Given the description of an element on the screen output the (x, y) to click on. 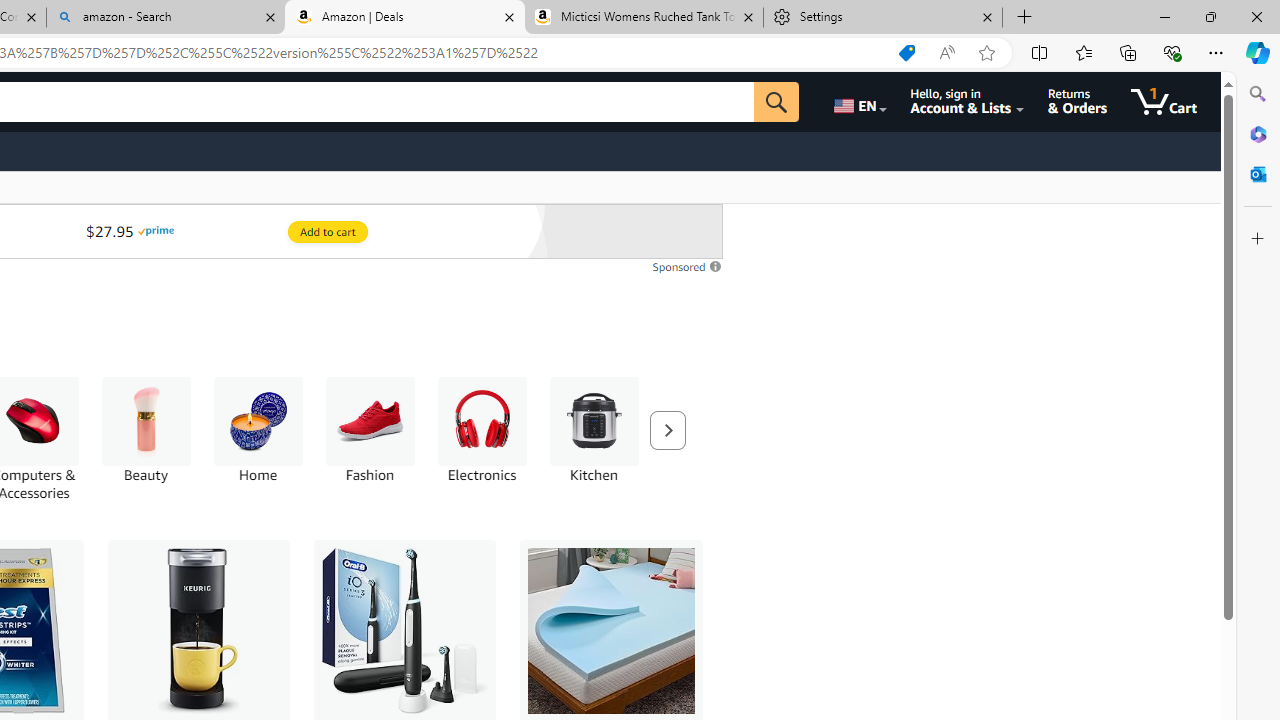
Hello, sign in Account & Lists (967, 101)
Amazon | Deals (404, 17)
Electronics (481, 421)
Kitchen (593, 421)
Electronics (481, 439)
Go (776, 101)
Beauty Beauty (145, 430)
Keurig K-Mini Single Serve Coffee Maker, Black (199, 630)
Beauty (145, 439)
Outlook (1258, 174)
